Given the description of an element on the screen output the (x, y) to click on. 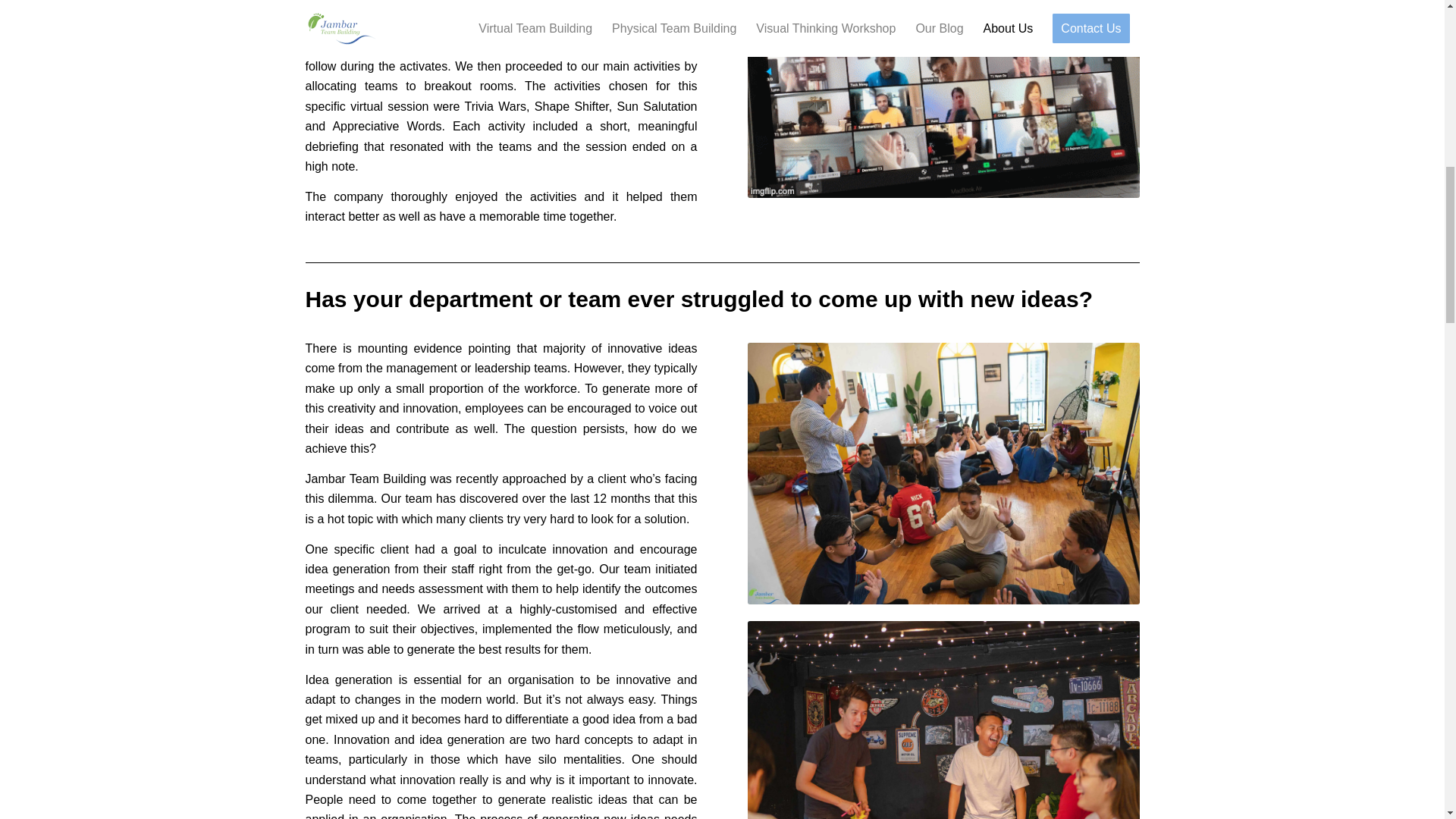
Jambar Virtual Case Study (944, 99)
